Given the description of an element on the screen output the (x, y) to click on. 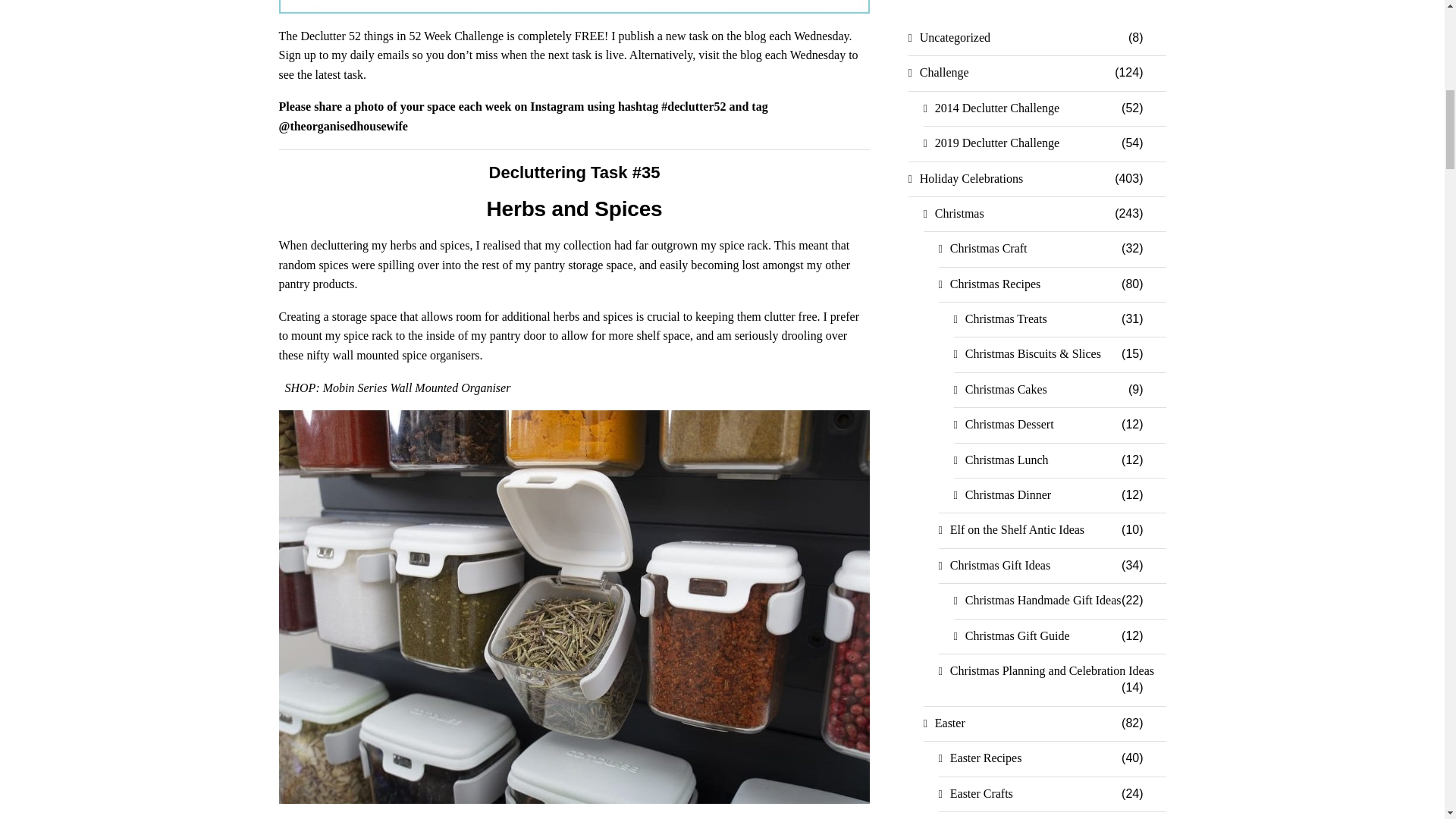
2019 weekly declutter challenge tasks for tidy home (574, 6)
